Given the description of an element on the screen output the (x, y) to click on. 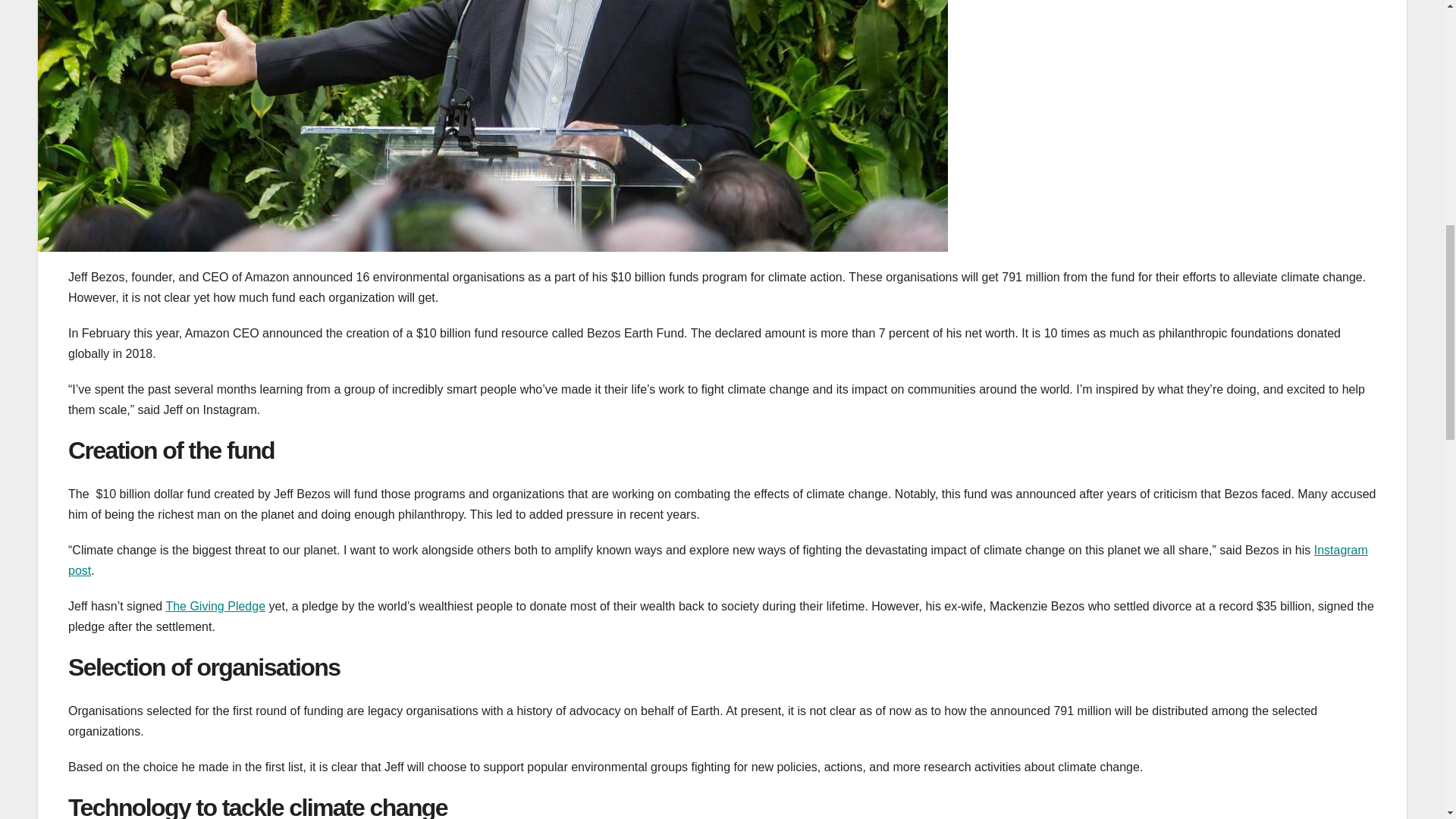
The Giving Pledge (214, 605)
Instagram post (718, 560)
